Given the description of an element on the screen output the (x, y) to click on. 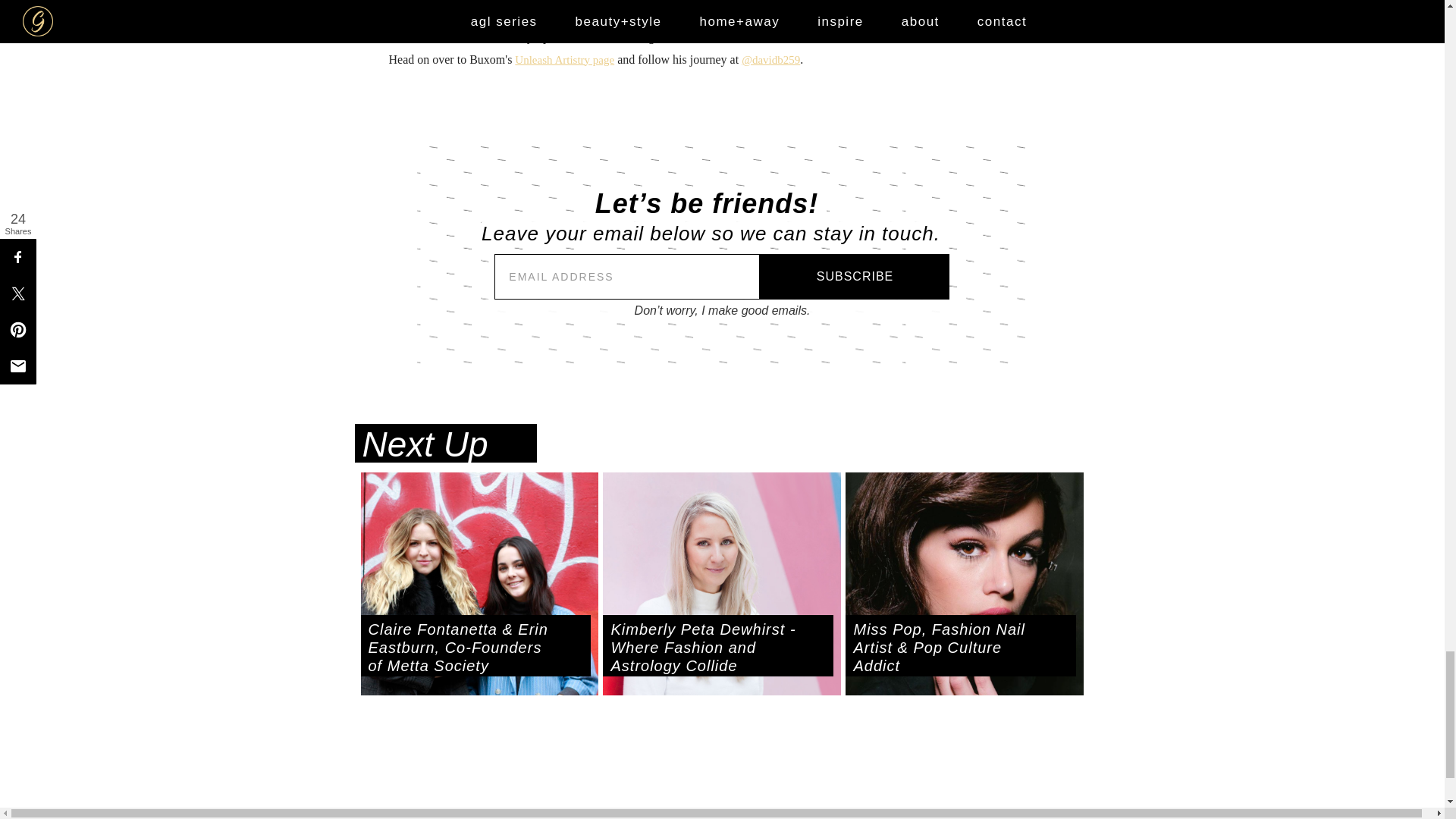
Subscribe (854, 276)
Kimberly Peta Dewhirst - Where Fashion and Astrology Collide (717, 647)
Unleash Artistry page (564, 60)
Subscribe (854, 276)
